Given the description of an element on the screen output the (x, y) to click on. 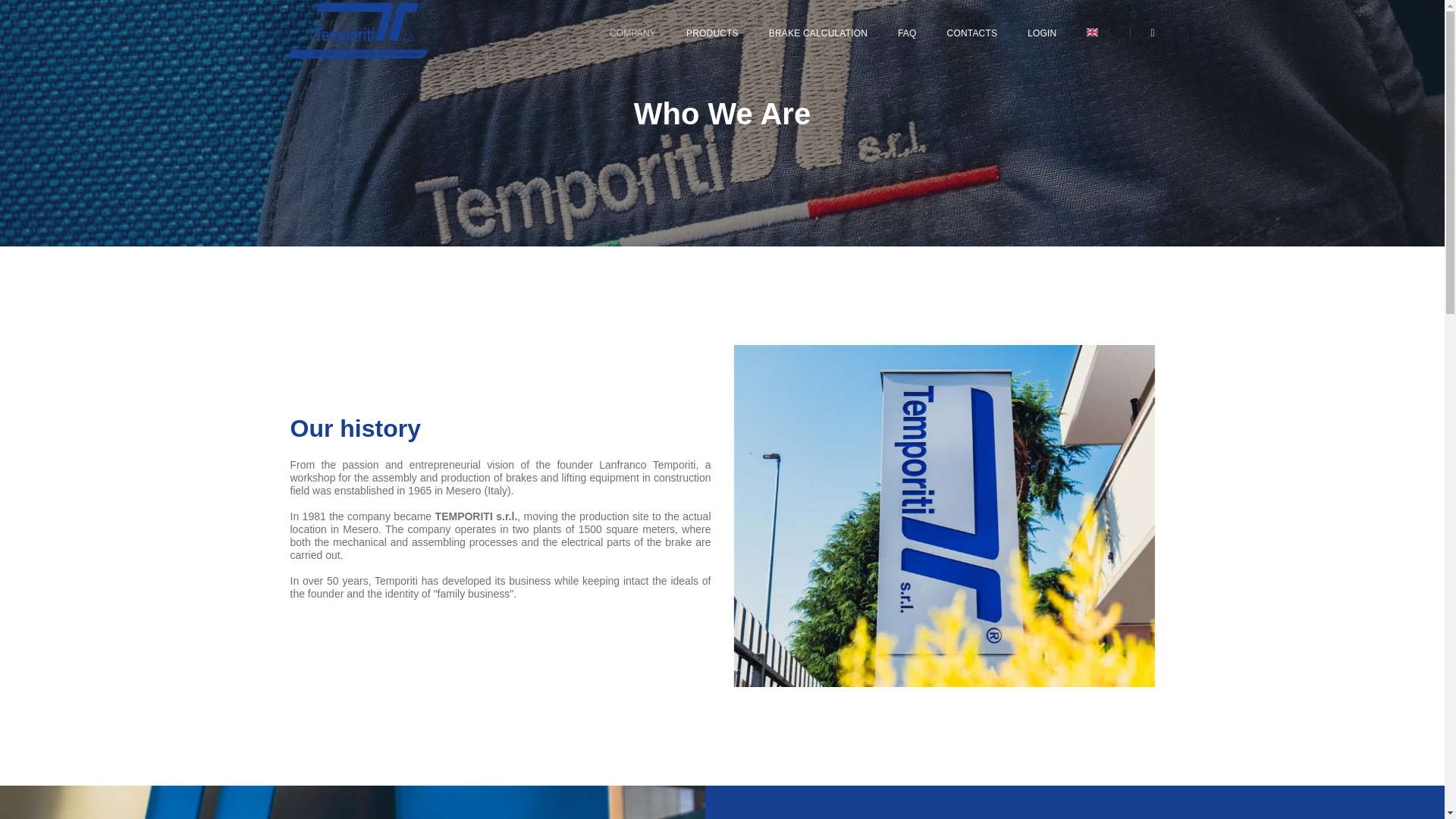
LOGIN (1042, 32)
FAQ (907, 32)
BRAKE CALCULATION (817, 32)
COMPANY (633, 32)
PRODUCTS (711, 32)
CONTACTS (972, 32)
Linkedin (1147, 31)
